Given the description of an element on the screen output the (x, y) to click on. 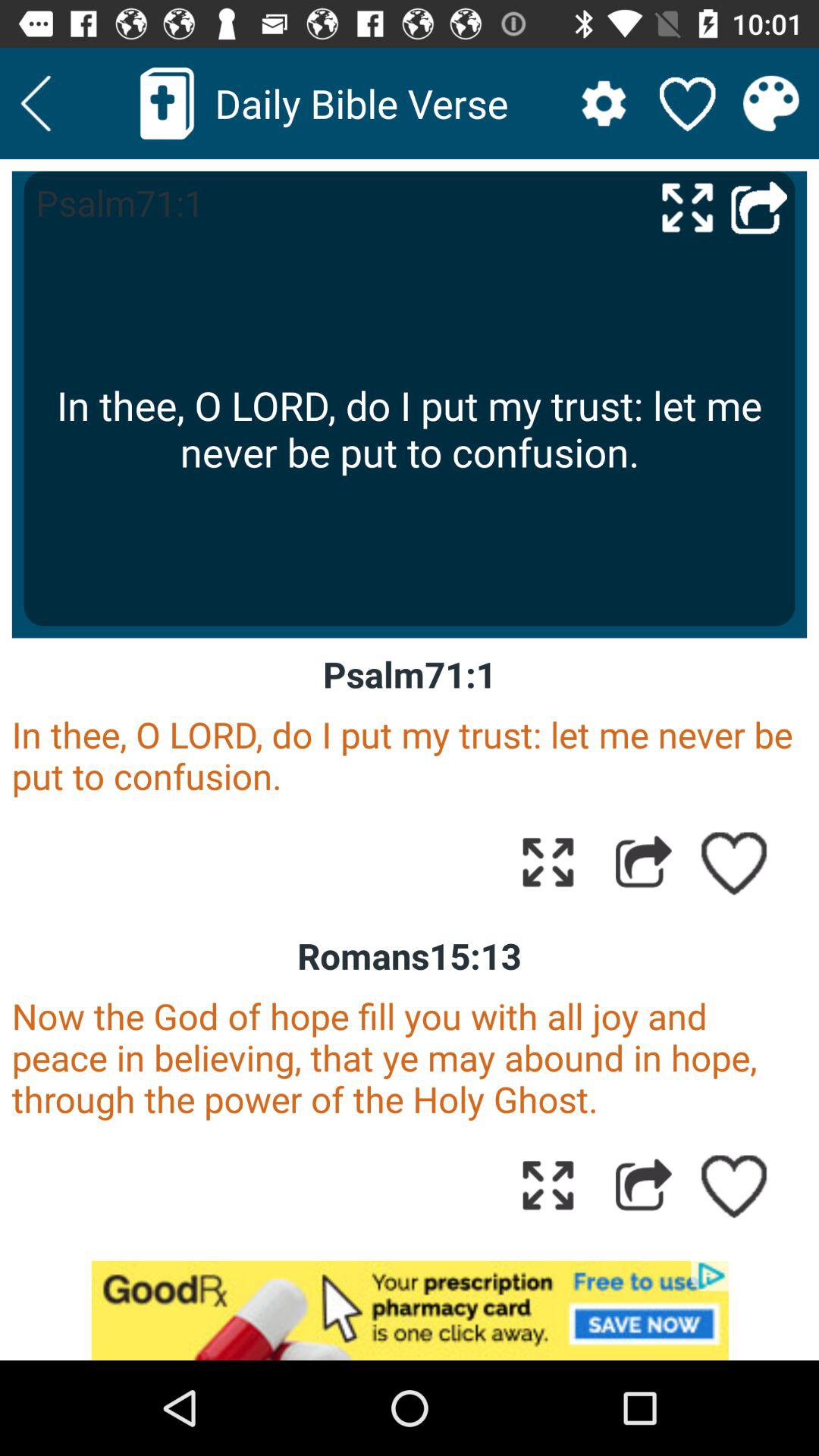
forward button (643, 1184)
